Given the description of an element on the screen output the (x, y) to click on. 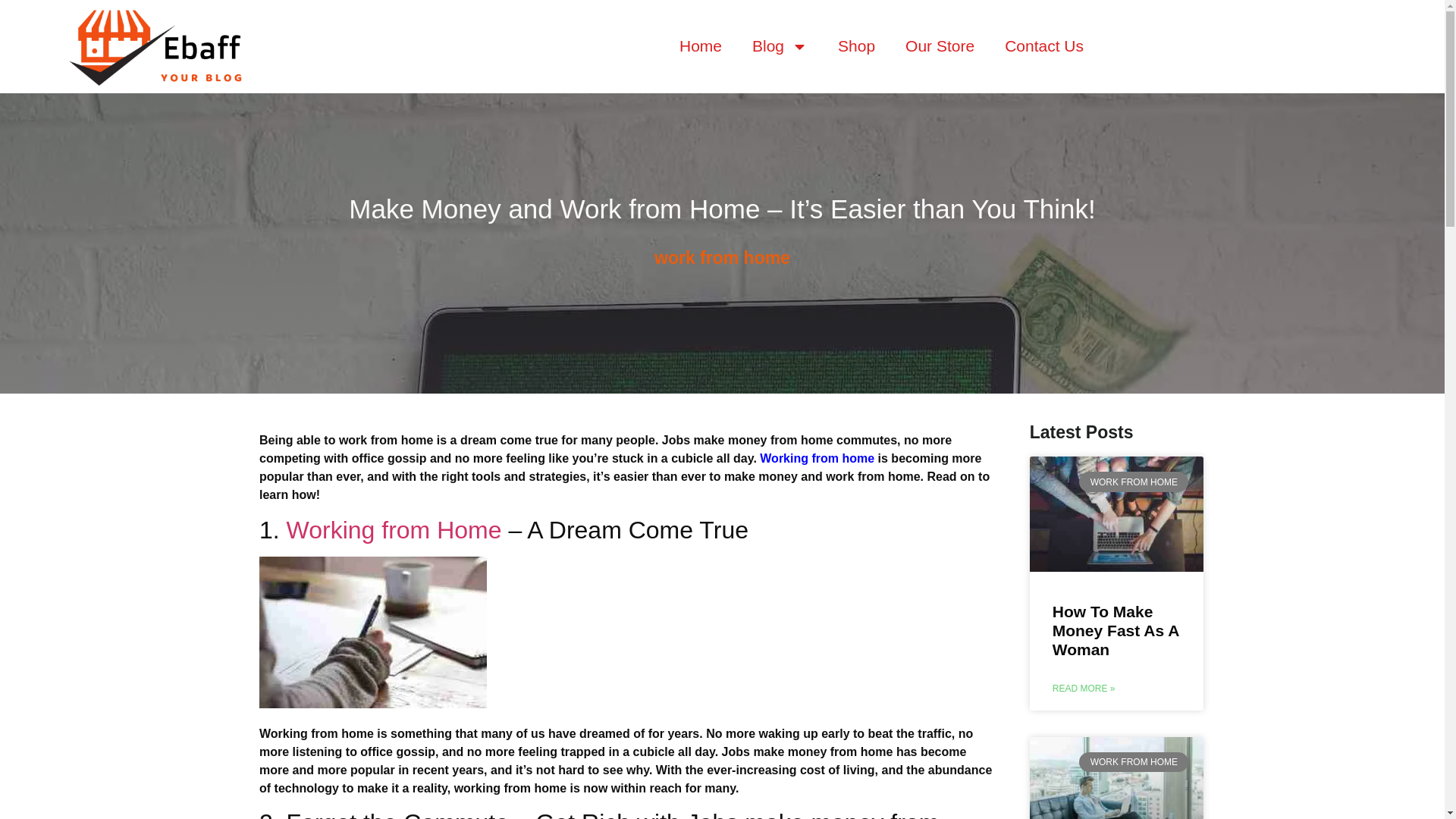
Home (699, 46)
Blog (779, 46)
Contact Us (1044, 46)
How To Make Money Fast As A Woman (1115, 630)
Our Store (939, 46)
Shop (855, 46)
Working from Home (394, 529)
work from home (721, 257)
Working from home (817, 458)
